Given the description of an element on the screen output the (x, y) to click on. 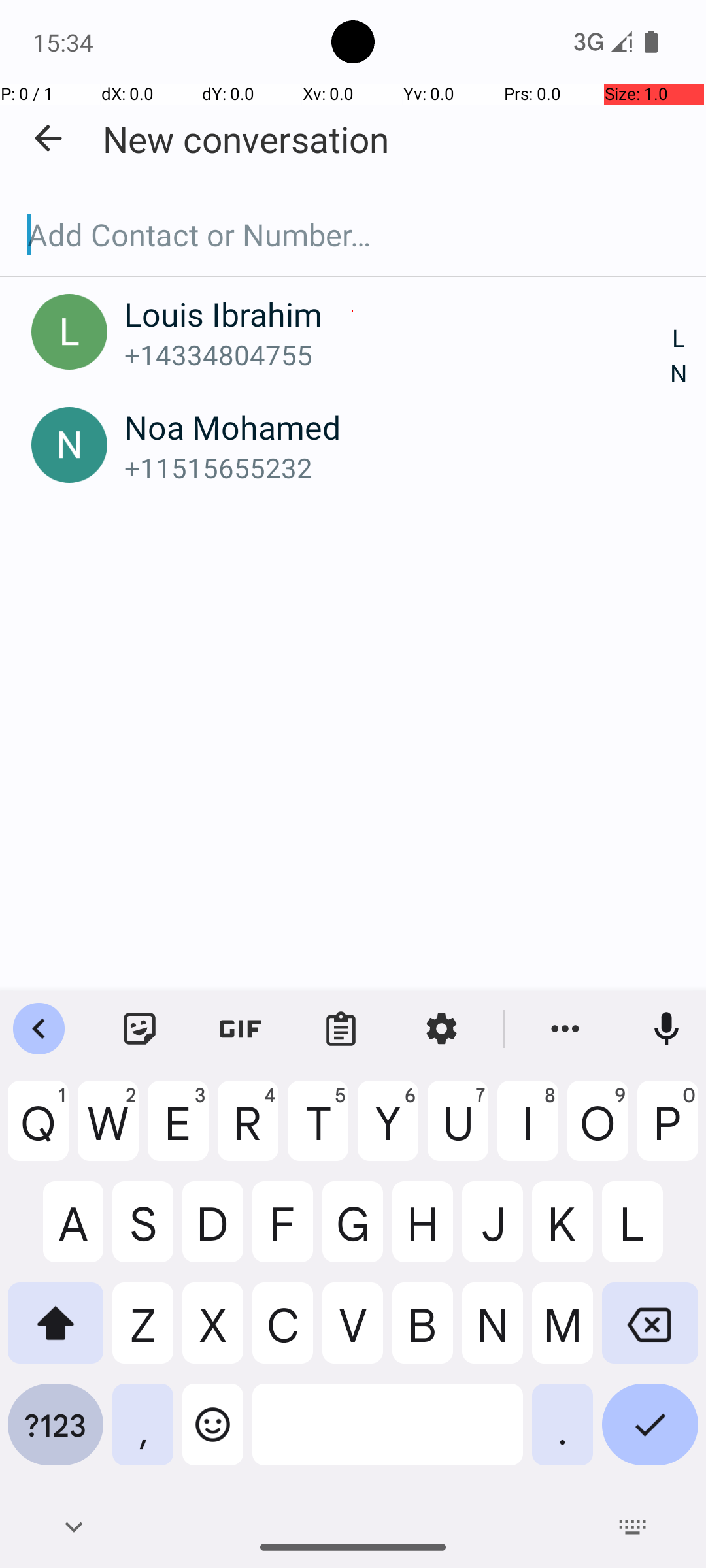
New conversation Element type: android.widget.TextView (245, 138)
Add Contact or Number… Element type: android.widget.EditText (352, 234)
L
N Element type: android.widget.TextView (678, 356)
Louis Ibrahim Element type: android.widget.TextView (397, 313)
+14334804755 Element type: android.widget.TextView (397, 354)
Noa Mohamed Element type: android.widget.TextView (397, 426)
+11515655232 Element type: android.widget.TextView (397, 467)
